Given the description of an element on the screen output the (x, y) to click on. 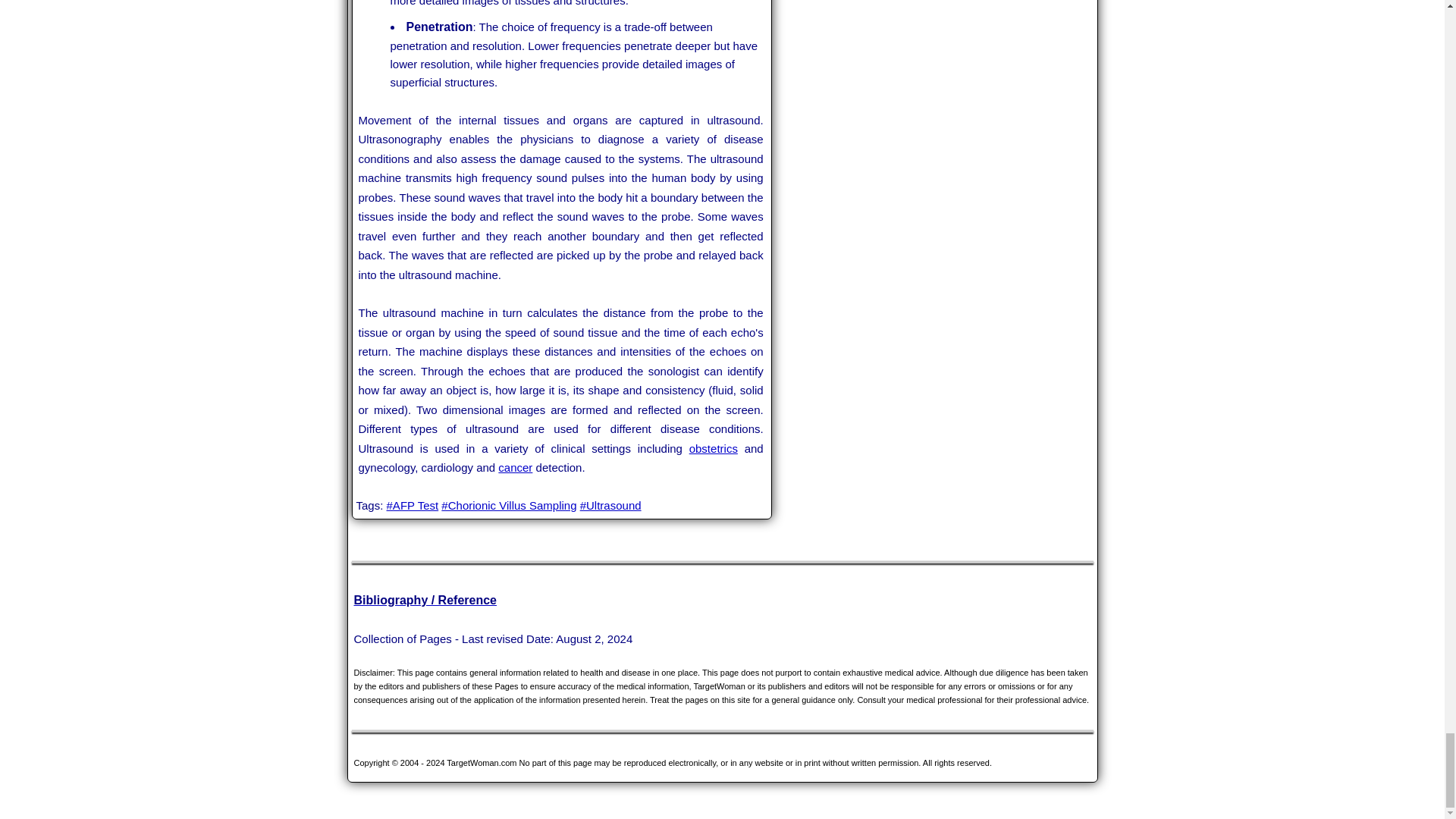
cancer (514, 467)
obstetrics (713, 448)
